Given the description of an element on the screen output the (x, y) to click on. 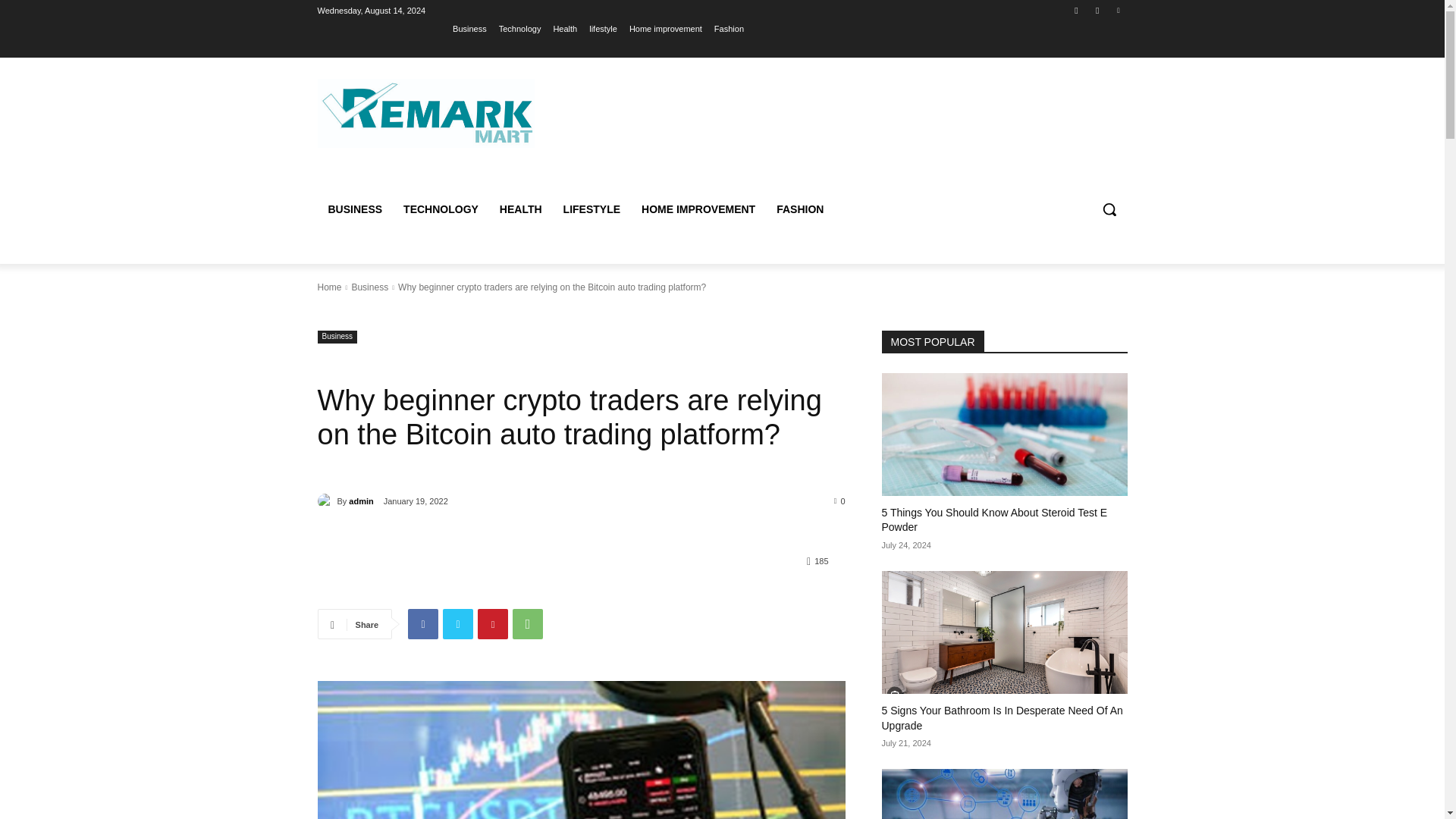
Instagram (1097, 9)
Twitter (457, 624)
FASHION (799, 208)
TECHNOLOGY (441, 208)
lifestyle (603, 28)
Fashion (729, 28)
Home (328, 286)
Business (336, 336)
Pinterest (1117, 9)
admin (326, 500)
